Given the description of an element on the screen output the (x, y) to click on. 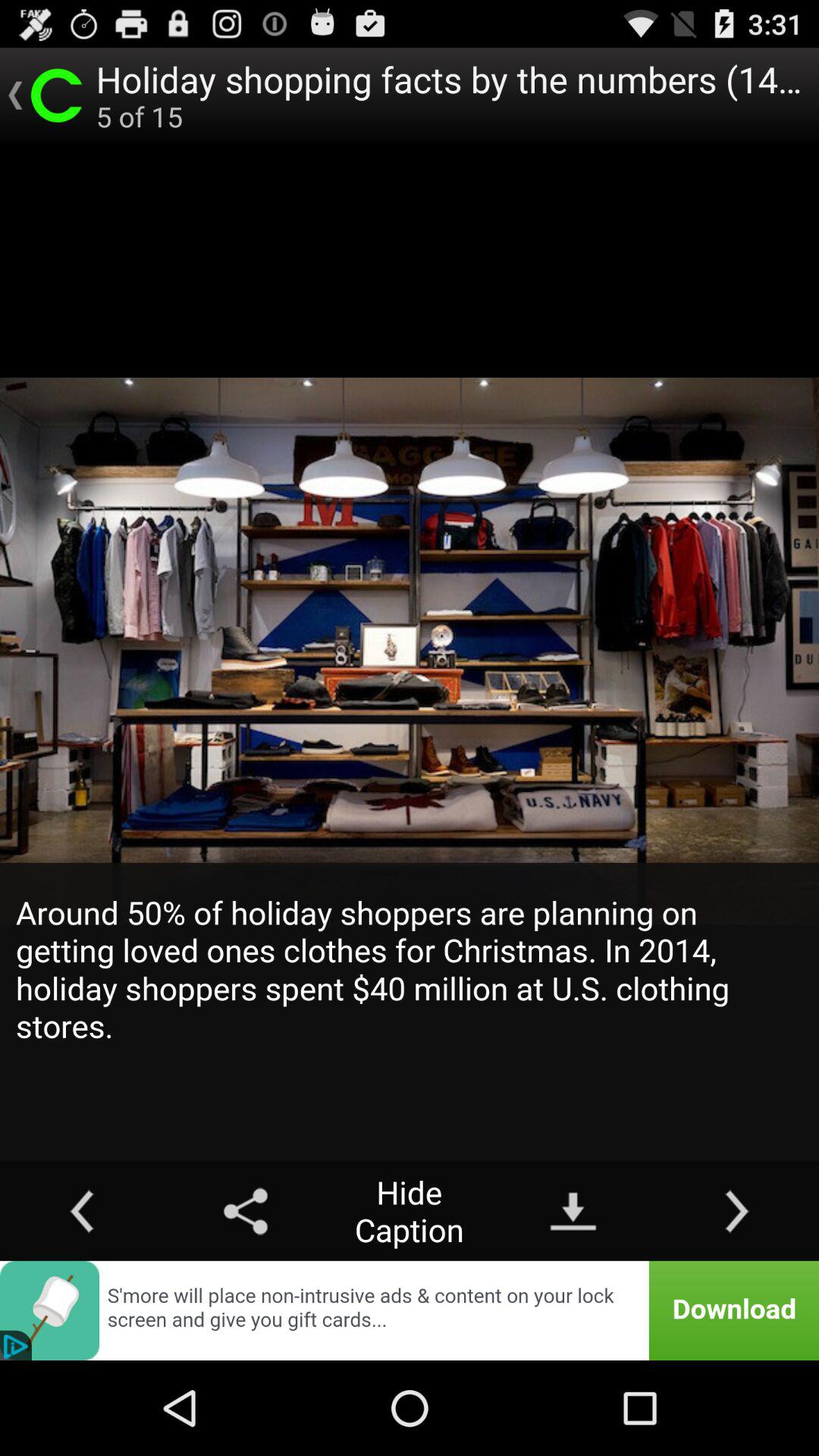
open the icon below 5 of 15 icon (409, 1011)
